Given the description of an element on the screen output the (x, y) to click on. 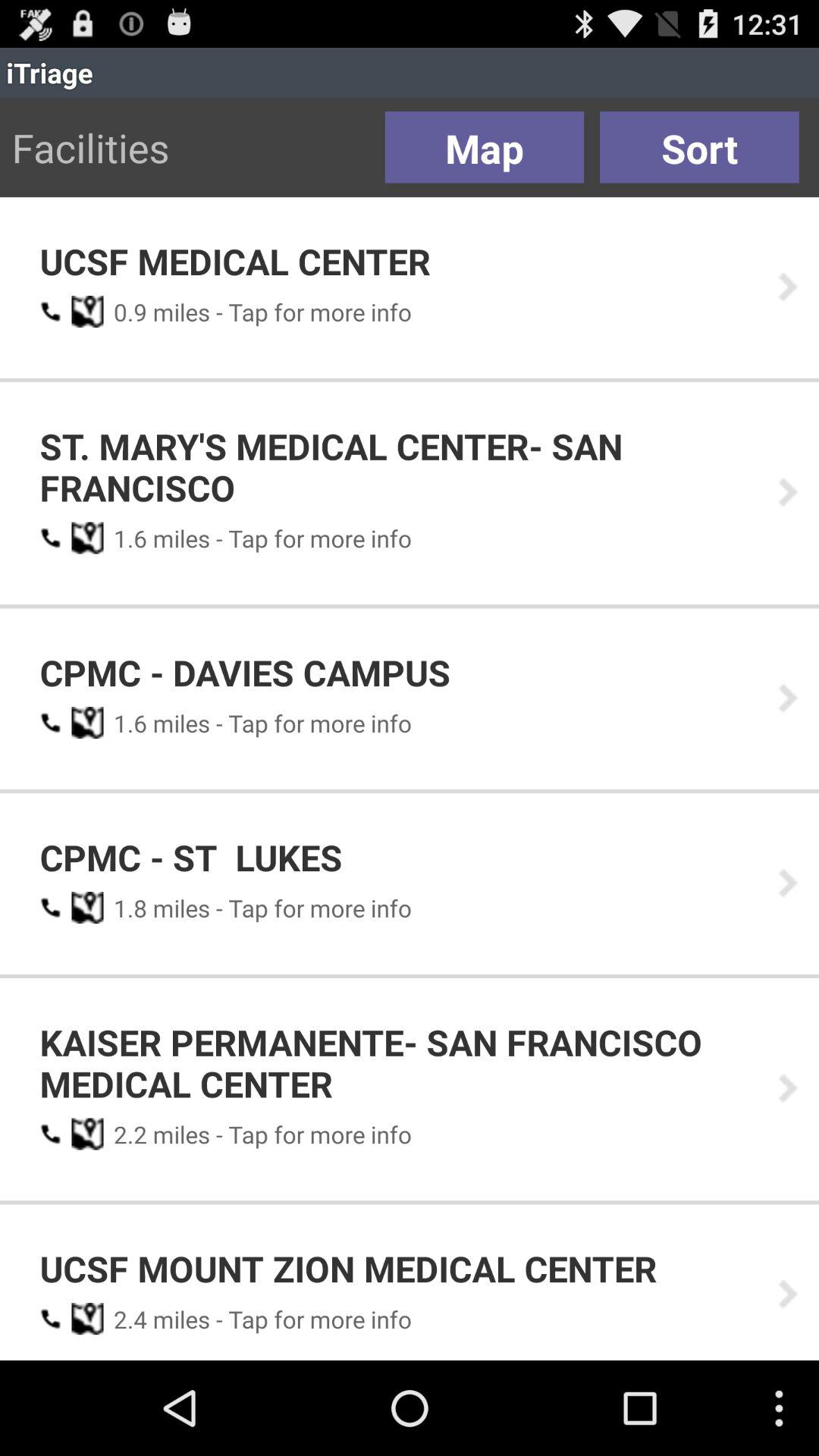
tap item below itriage (699, 147)
